Given the description of an element on the screen output the (x, y) to click on. 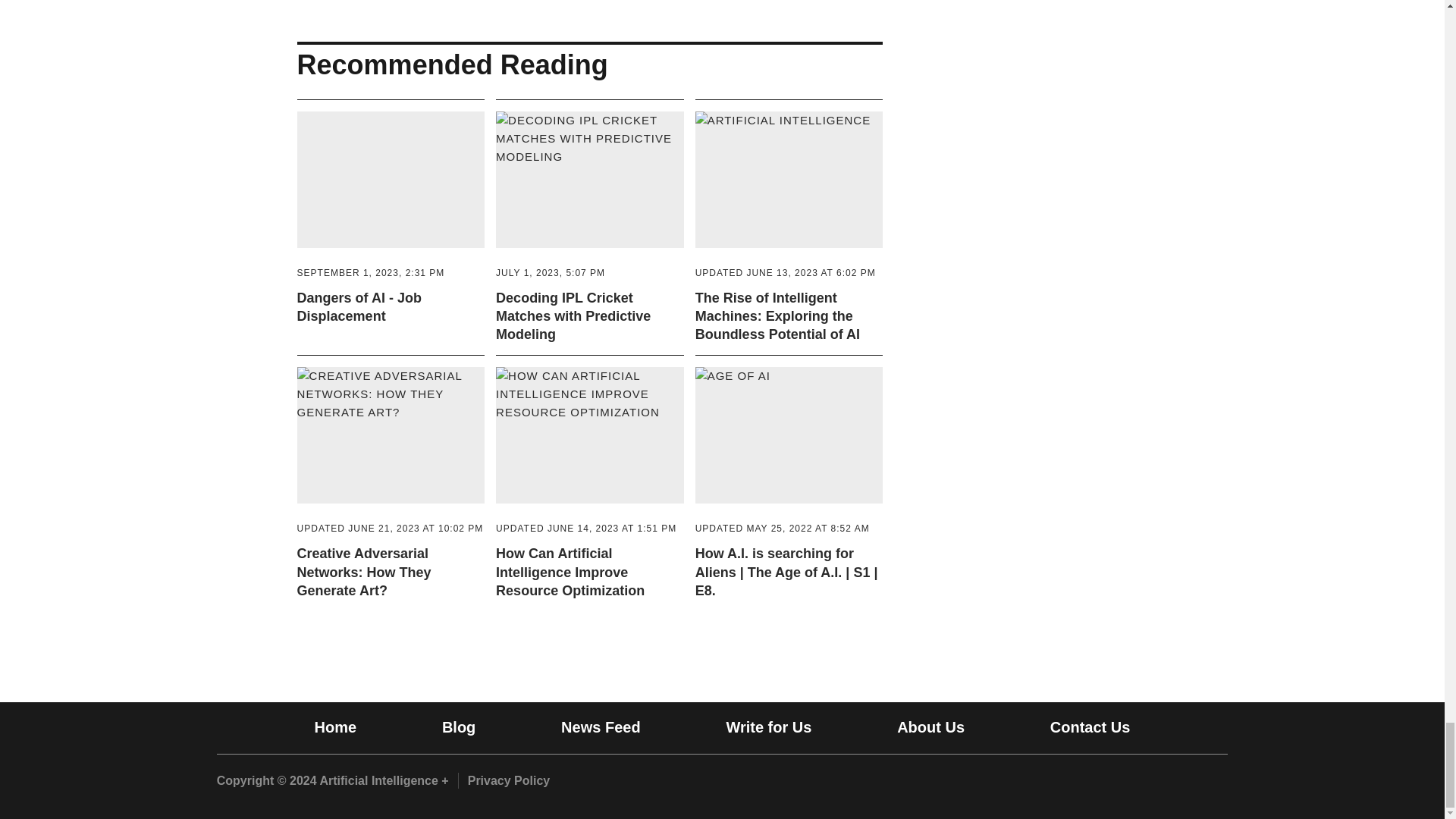
Decoding IPL Cricket Matches with Predictive Modeling (550, 272)
Dangers of AI - Job Displacement (359, 306)
Decoding IPL Cricket Matches with Predictive Modeling (590, 194)
Decoding IPL Cricket Matches with Predictive Modeling (573, 316)
Dangers of AI - Job Displacement (371, 272)
Dangers of AI - Job Displacement (390, 194)
